Given the description of an element on the screen output the (x, y) to click on. 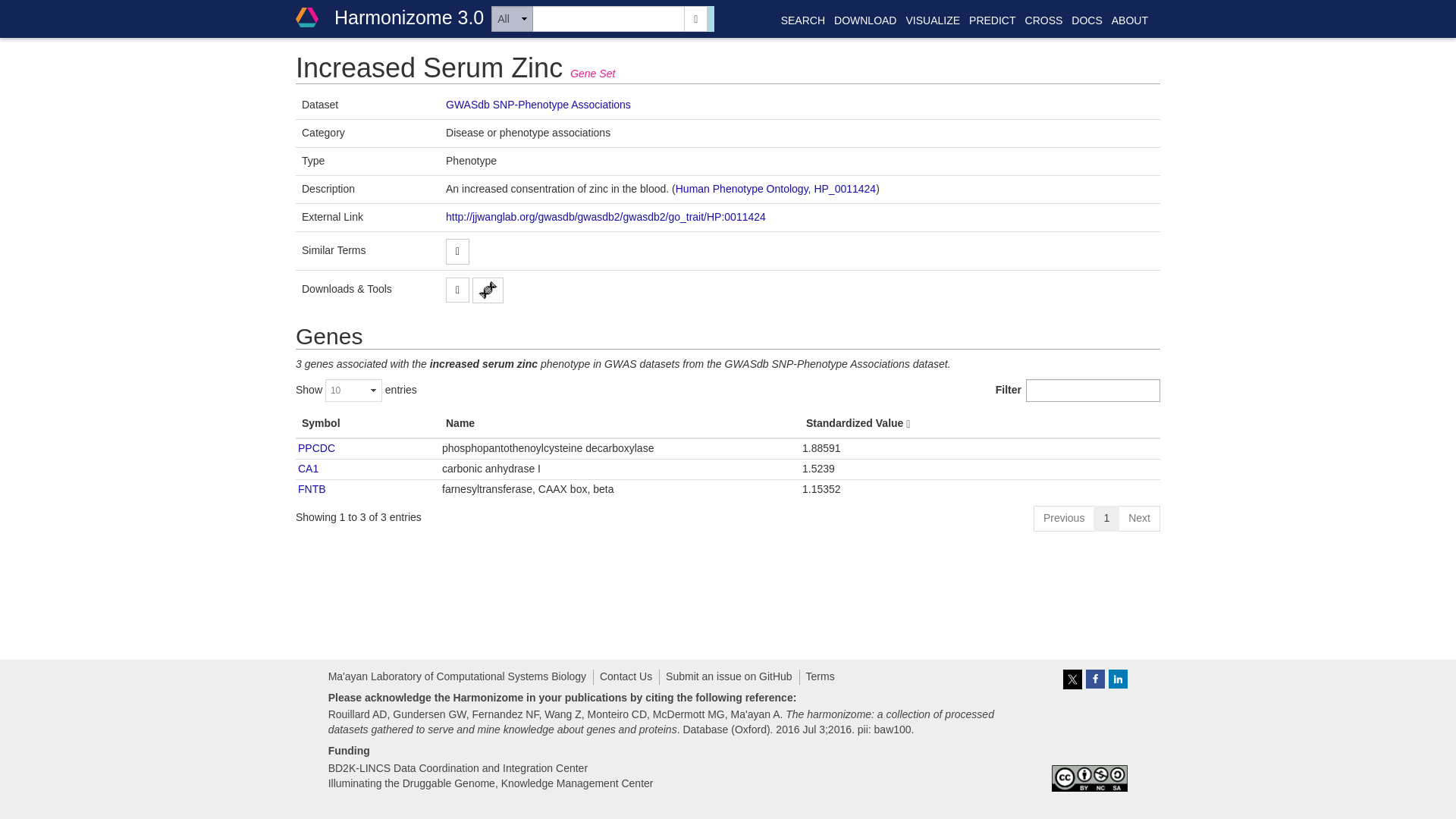
PPCDC (316, 448)
CROSS (1044, 20)
Ma'ayan Laboratory of Computational Systems Biology (457, 676)
Submit an issue on GitHub (728, 676)
DOWNLOAD (864, 20)
PREDICT (992, 20)
Previous (1063, 518)
Human Phenotype Ontology (741, 188)
FNTB (312, 489)
GWASdb SNP-Phenotype Associations (537, 104)
VISUALIZE (932, 20)
Contact Us (625, 676)
Next (1139, 518)
Harmonizome 3.0 (389, 16)
Terms (820, 676)
